Given the description of an element on the screen output the (x, y) to click on. 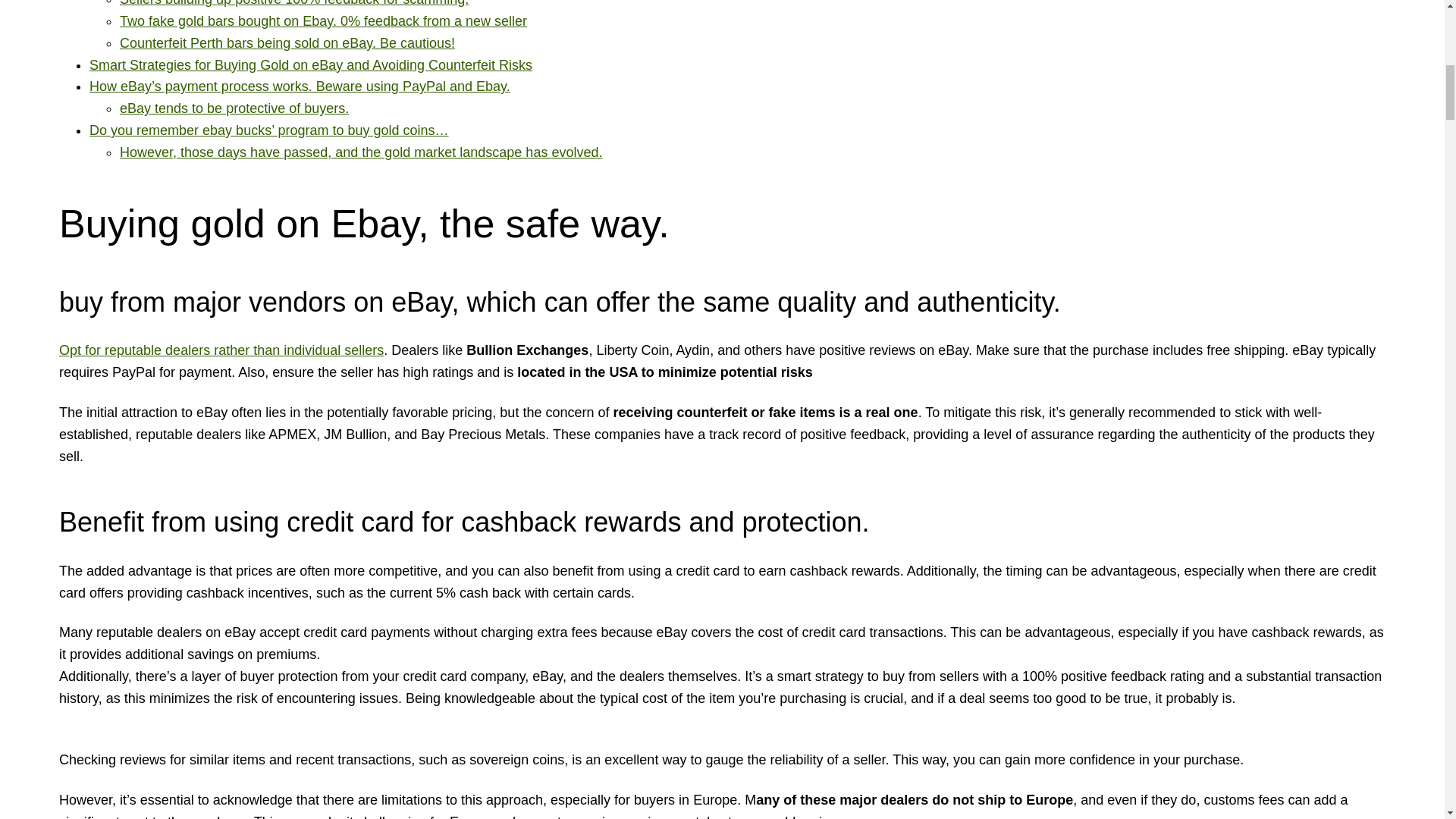
Counterfeit Perth bars being sold on eBay. Be cautious! (286, 43)
eBay tends to be protective of buyers. (234, 108)
Opt for reputable dealers rather than individual sellers (221, 350)
